Given the description of an element on the screen output the (x, y) to click on. 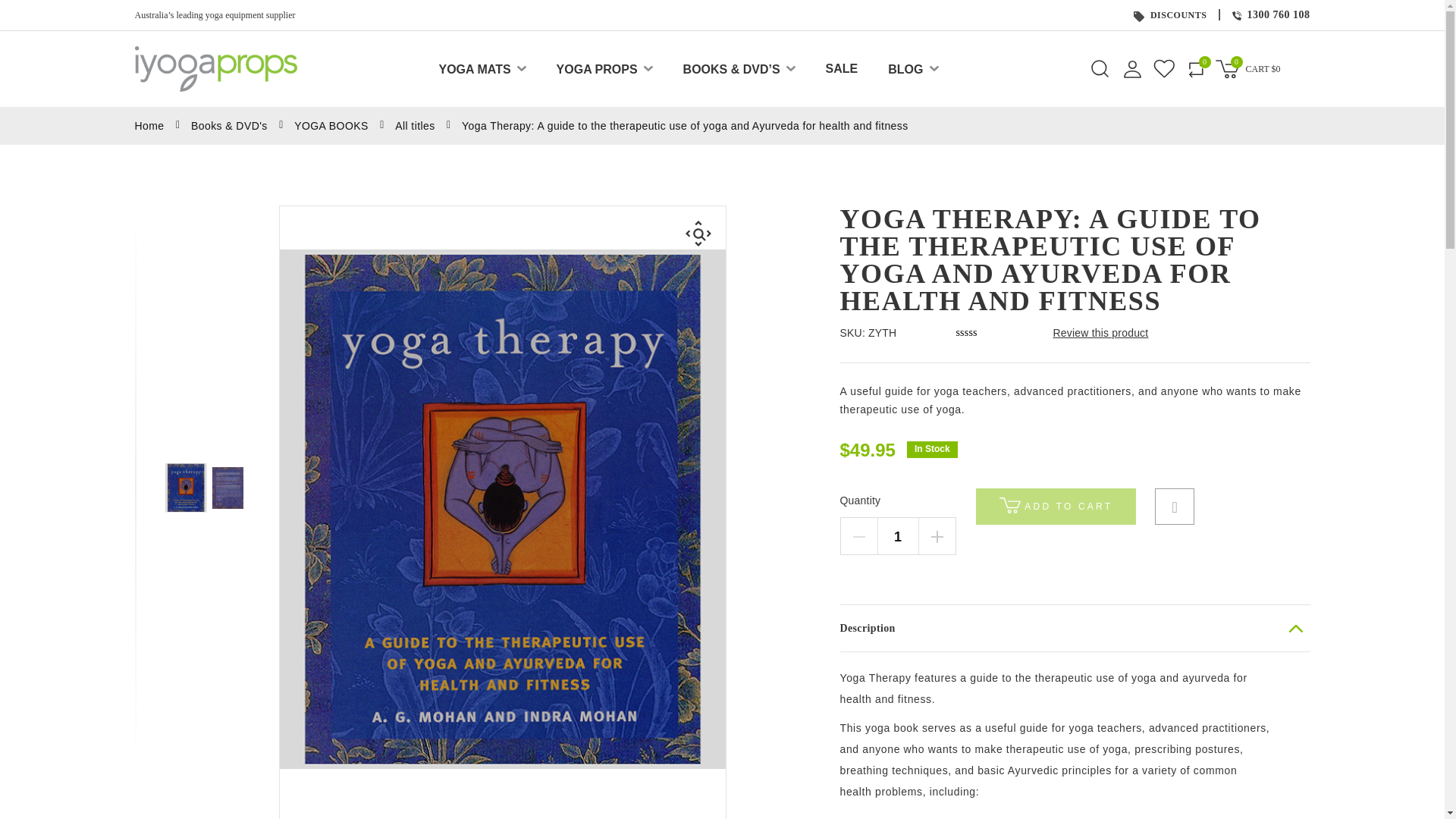
Qty (897, 536)
YOGA MATS (474, 69)
Discounts (1139, 16)
DISCOUNTS (1170, 14)
zoom (698, 233)
1300 760 108 (1269, 14)
wishlist (1162, 68)
phone:1300 760 108 (1235, 15)
Cart (1226, 68)
Compare (1194, 68)
